Given the description of an element on the screen output the (x, y) to click on. 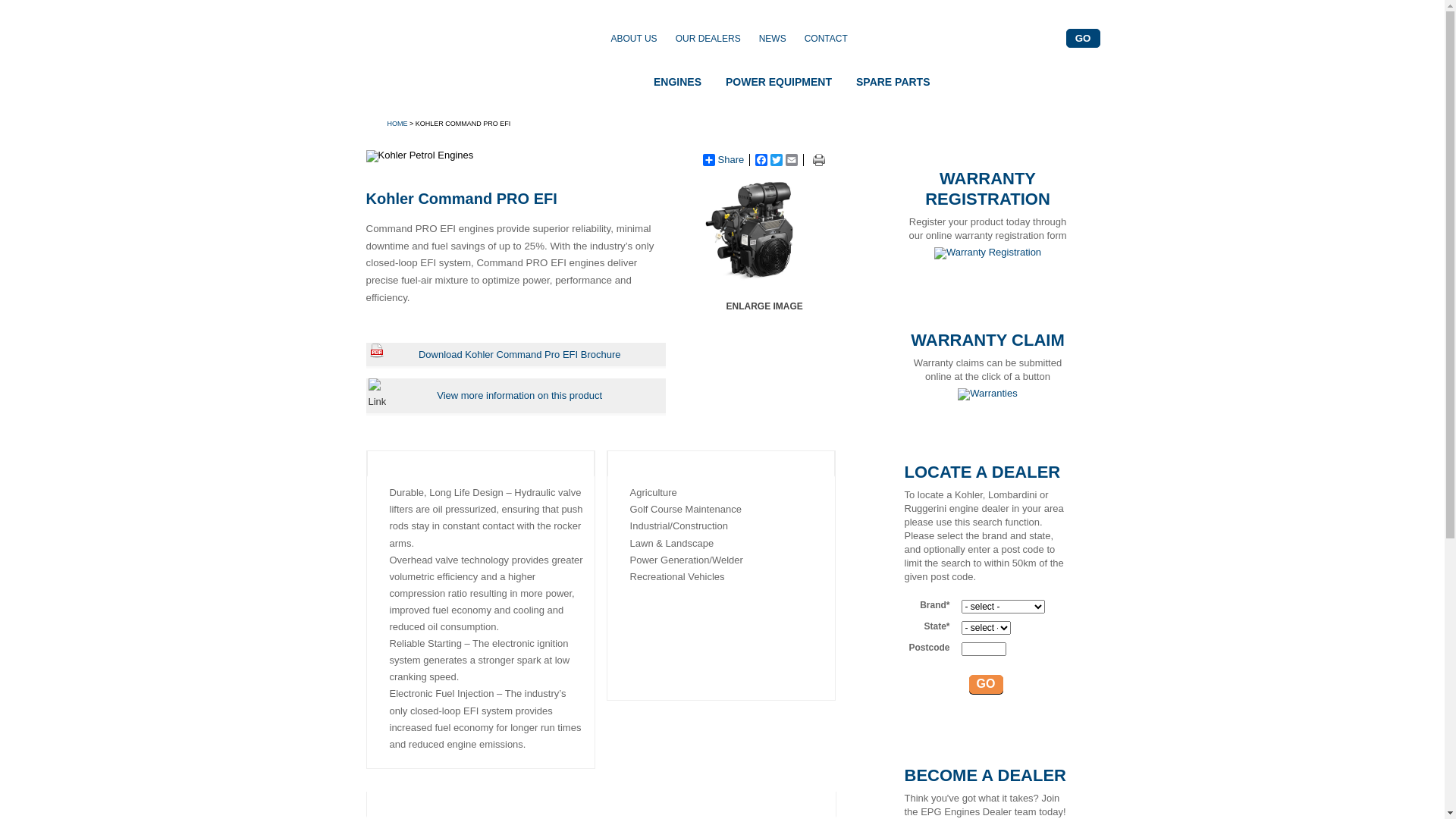
Share Element type: text (722, 159)
POWER EQUIPMENT Element type: text (778, 76)
DEALER AREA LOGIN Element type: text (1021, 76)
Download Kohler Command Pro EFI Brochure Element type: text (527, 354)
NEWS Element type: text (772, 38)
ENGINES Element type: text (675, 76)
Twitter Element type: text (776, 159)
View more information on this product Element type: text (526, 395)
GO Element type: text (1083, 37)
ABOUT US Element type: text (634, 38)
ENLARGE IMAGE Element type: text (764, 305)
HOME Element type: text (396, 123)
Email Element type: text (791, 159)
Facebook Element type: text (760, 159)
SPARE PARTS Element type: text (893, 76)
Print this page Element type: hover (816, 161)
OUR DEALERS Element type: text (707, 38)
CONTACT Element type: text (825, 38)
GO Element type: text (986, 683)
